Given the description of an element on the screen output the (x, y) to click on. 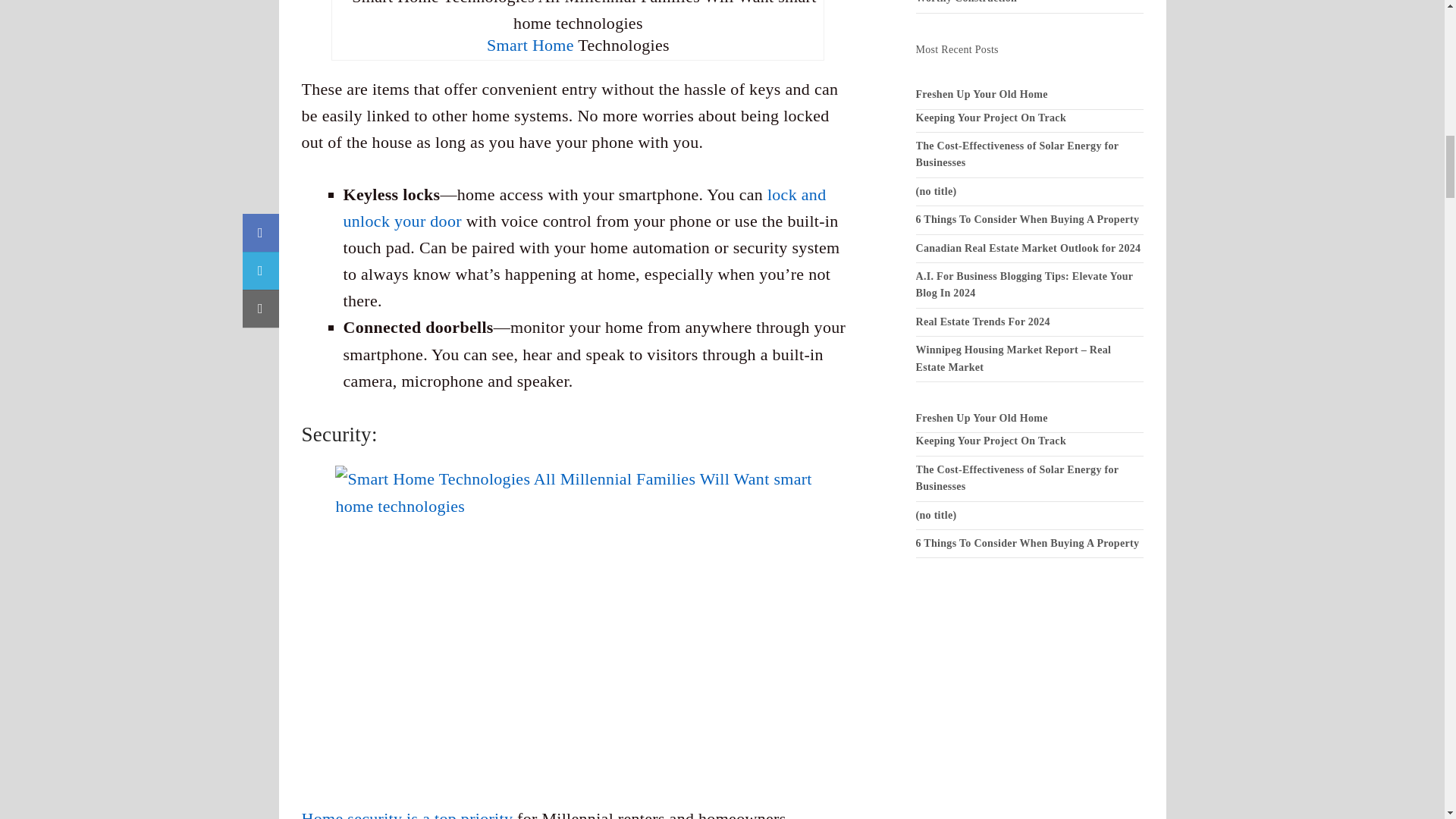
lock and unlock your door (583, 207)
Smart Home (529, 45)
